Given the description of an element on the screen output the (x, y) to click on. 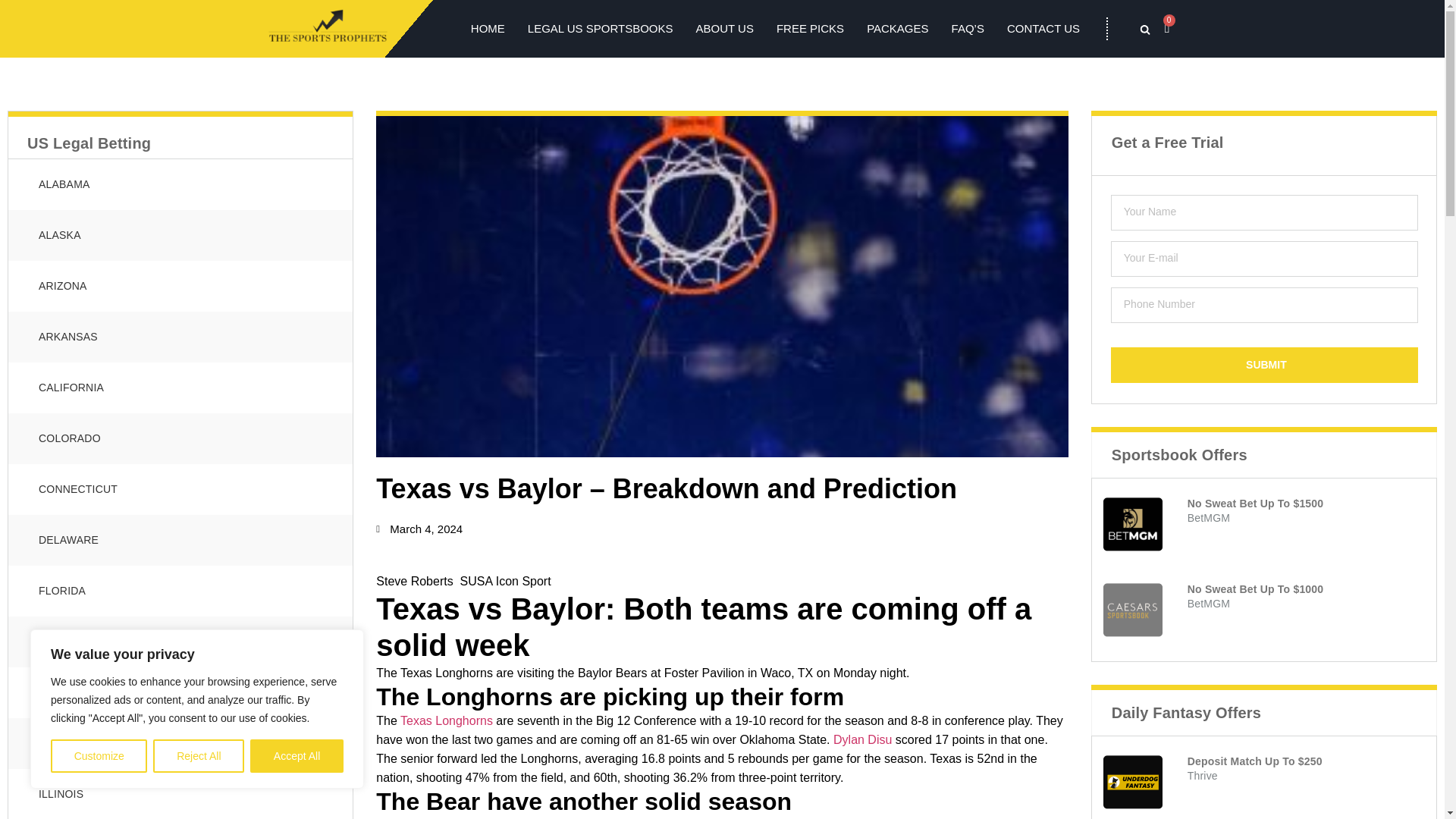
Reject All (198, 756)
PACKAGES (897, 28)
FREE PICKS (810, 28)
CONTACT US (1043, 28)
ABOUT US (724, 28)
LEGAL US SPORTSBOOKS (599, 28)
HOME (487, 28)
Accept All (296, 756)
Customize (98, 756)
